Given the description of an element on the screen output the (x, y) to click on. 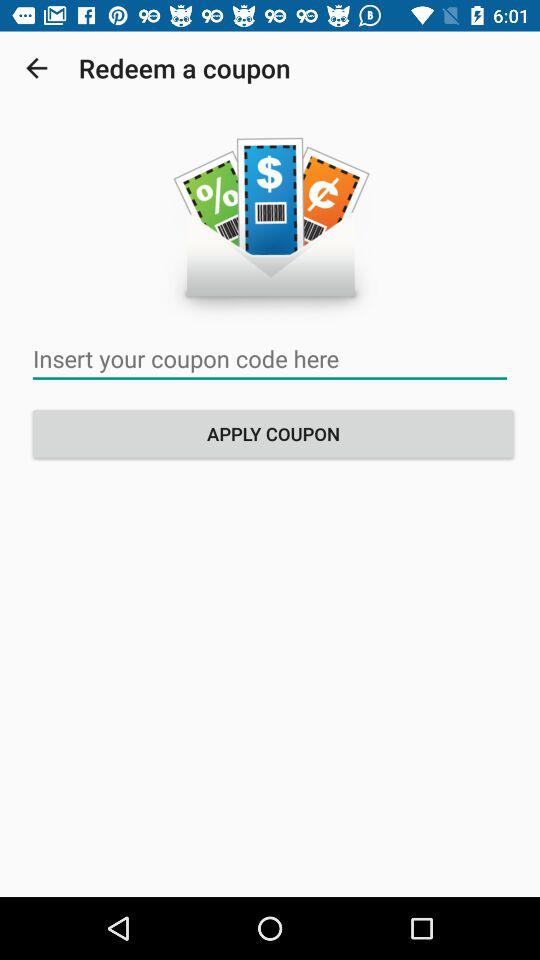
launch item at the top left corner (36, 68)
